Given the description of an element on the screen output the (x, y) to click on. 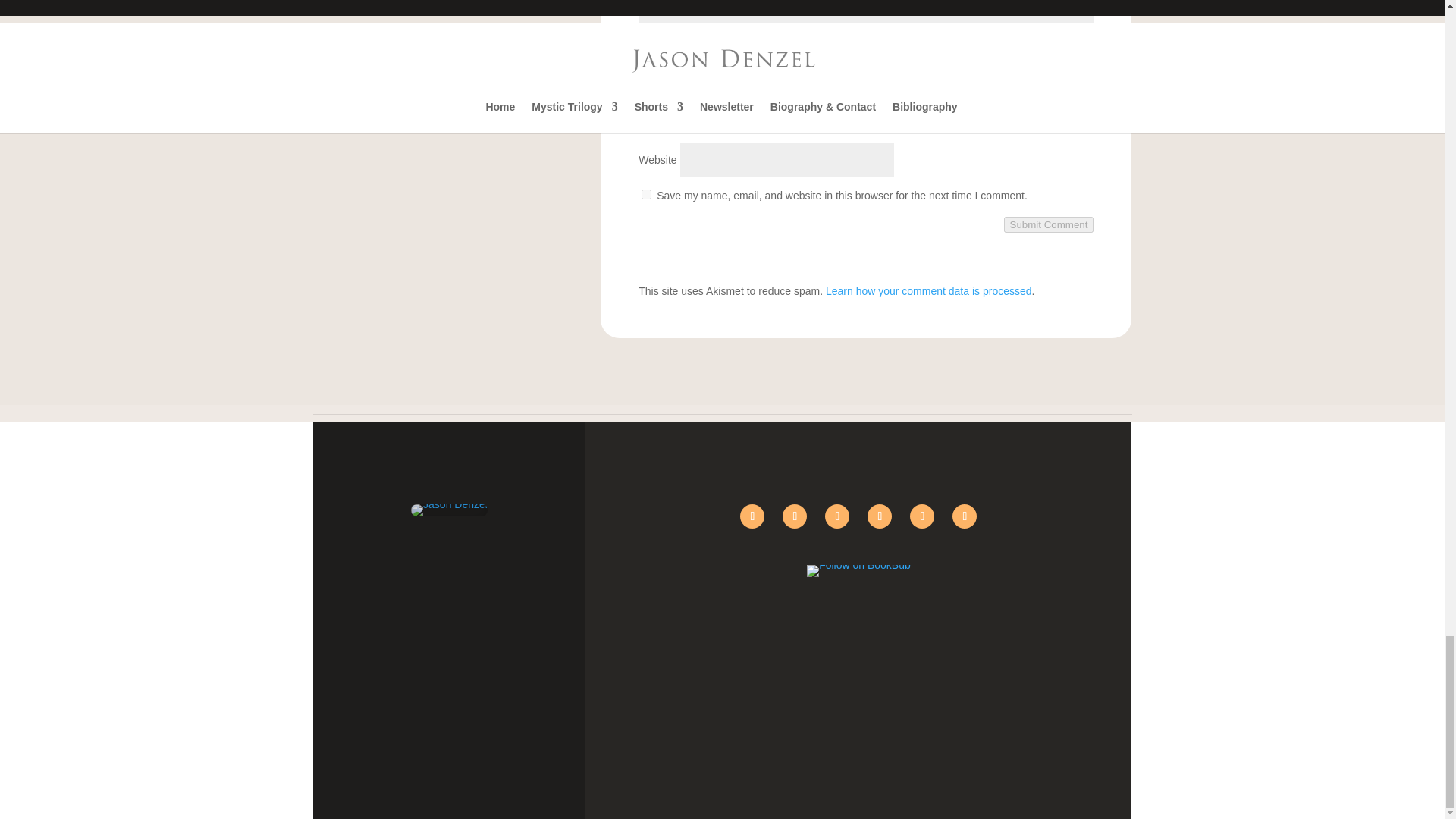
Follow on Goodreads (922, 516)
yes (646, 194)
Follow on Facebook (751, 516)
Submit Comment (1049, 224)
Follow on TikTok (836, 516)
Learn how your comment data is processed (928, 291)
Follow on X (794, 516)
Follow on Instagram (879, 516)
